Given the description of an element on the screen output the (x, y) to click on. 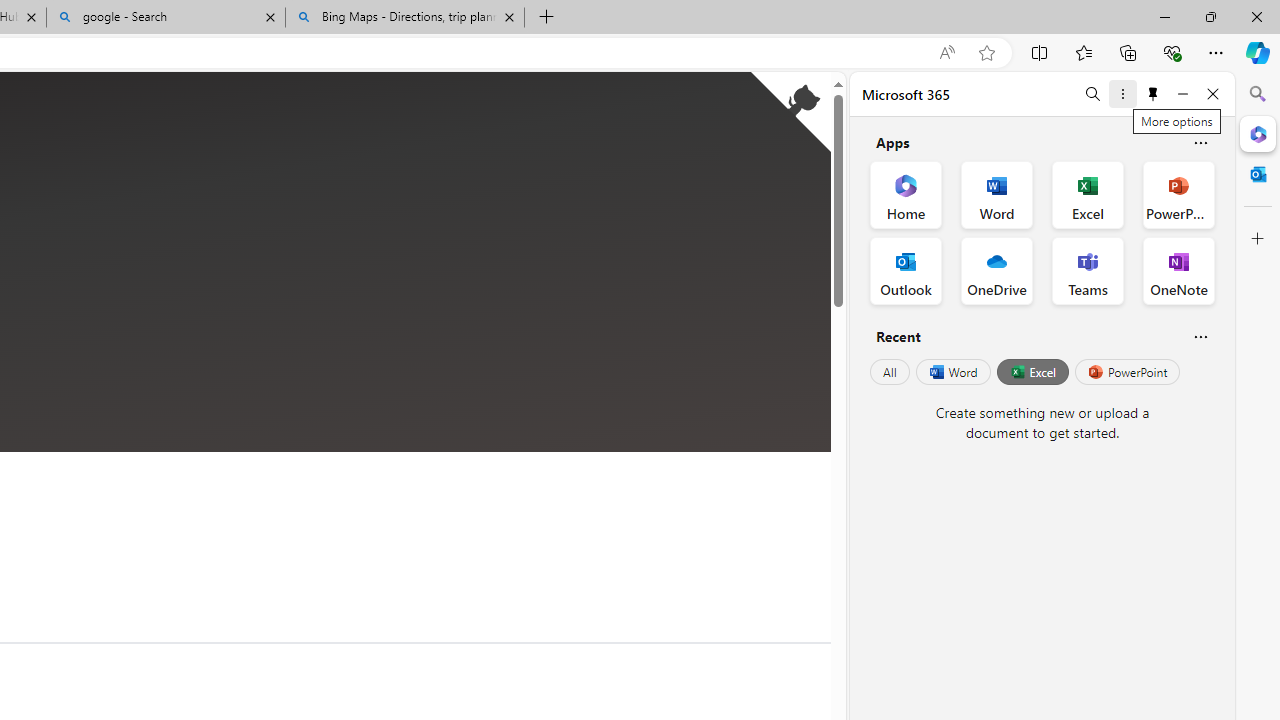
PowerPoint Office App (1178, 194)
Home Office App (906, 194)
OneNote Office App (1178, 270)
Word Office App (996, 194)
